Given the description of an element on the screen output the (x, y) to click on. 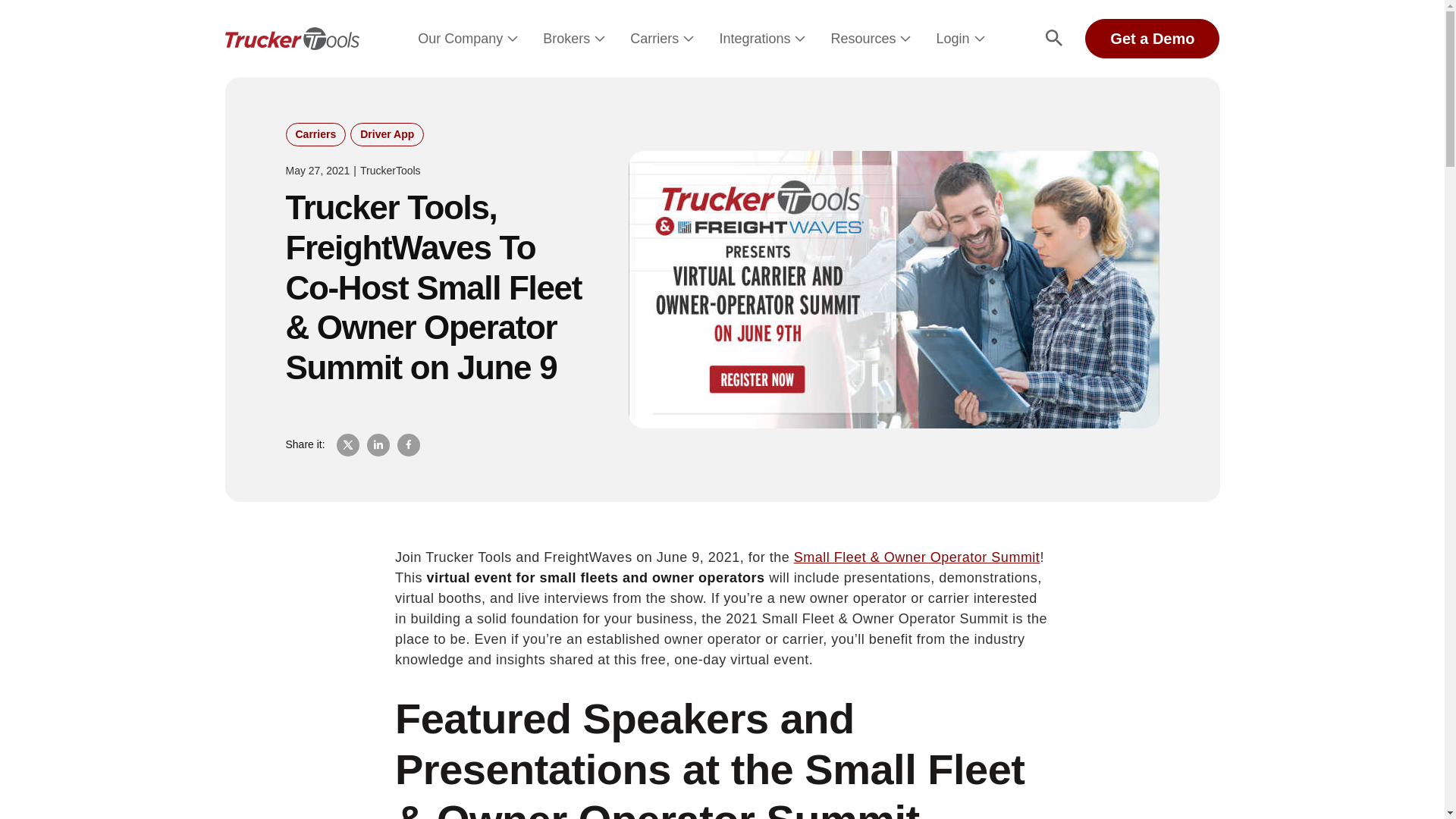
Login (952, 38)
Our Company (459, 38)
Carriers (315, 134)
Carriers (654, 38)
Trucker Tools (291, 38)
Get a Demo (1152, 38)
Integrations (754, 38)
Resources (862, 38)
Driver App (386, 134)
Brokers (566, 38)
